Given the description of an element on the screen output the (x, y) to click on. 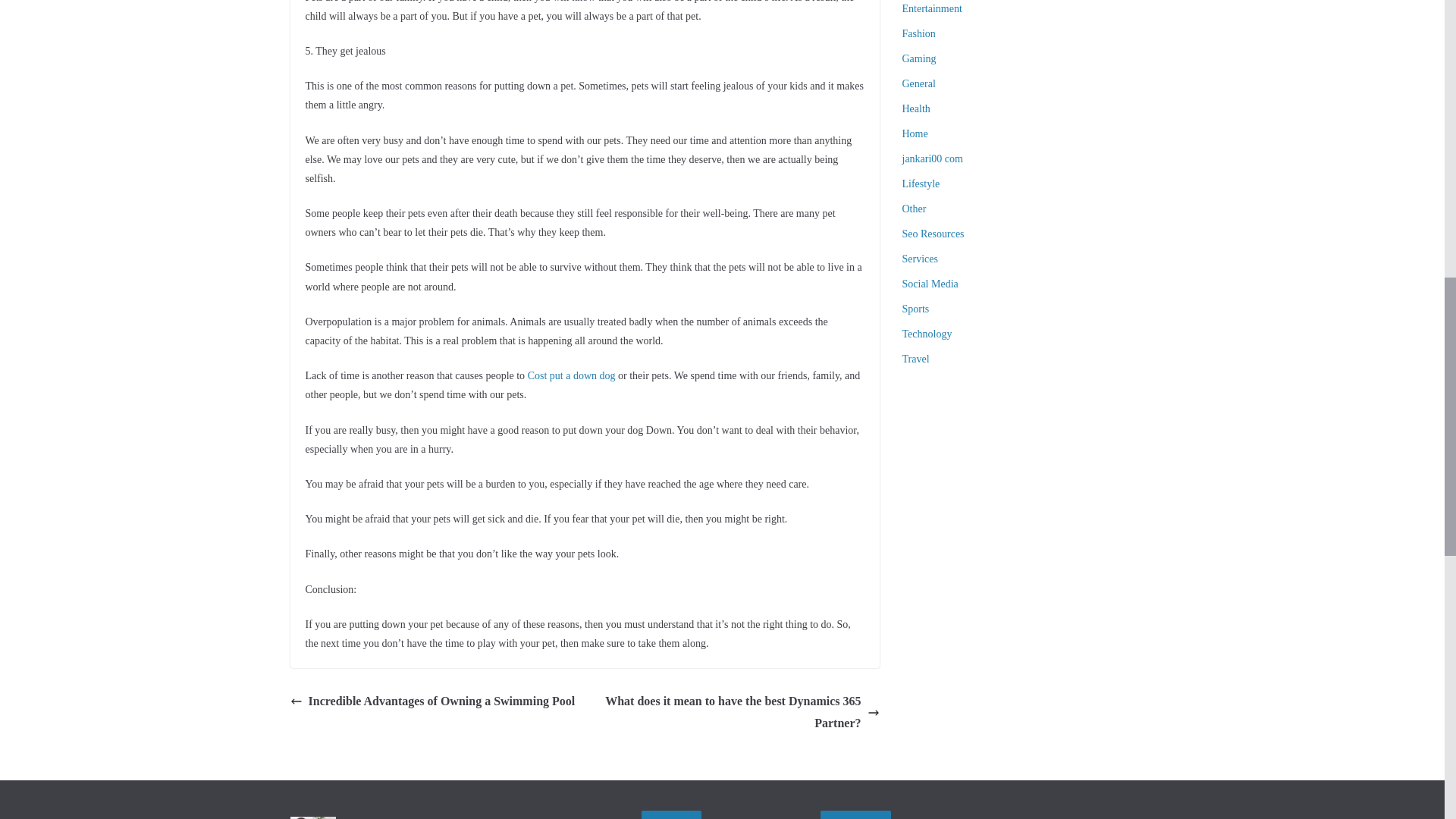
Incredible Advantages of Owning a Swimming Pool (432, 701)
Cost put a down dog (571, 375)
What does it mean to have the best Dynamics 365 Partner? (735, 712)
